Given the description of an element on the screen output the (x, y) to click on. 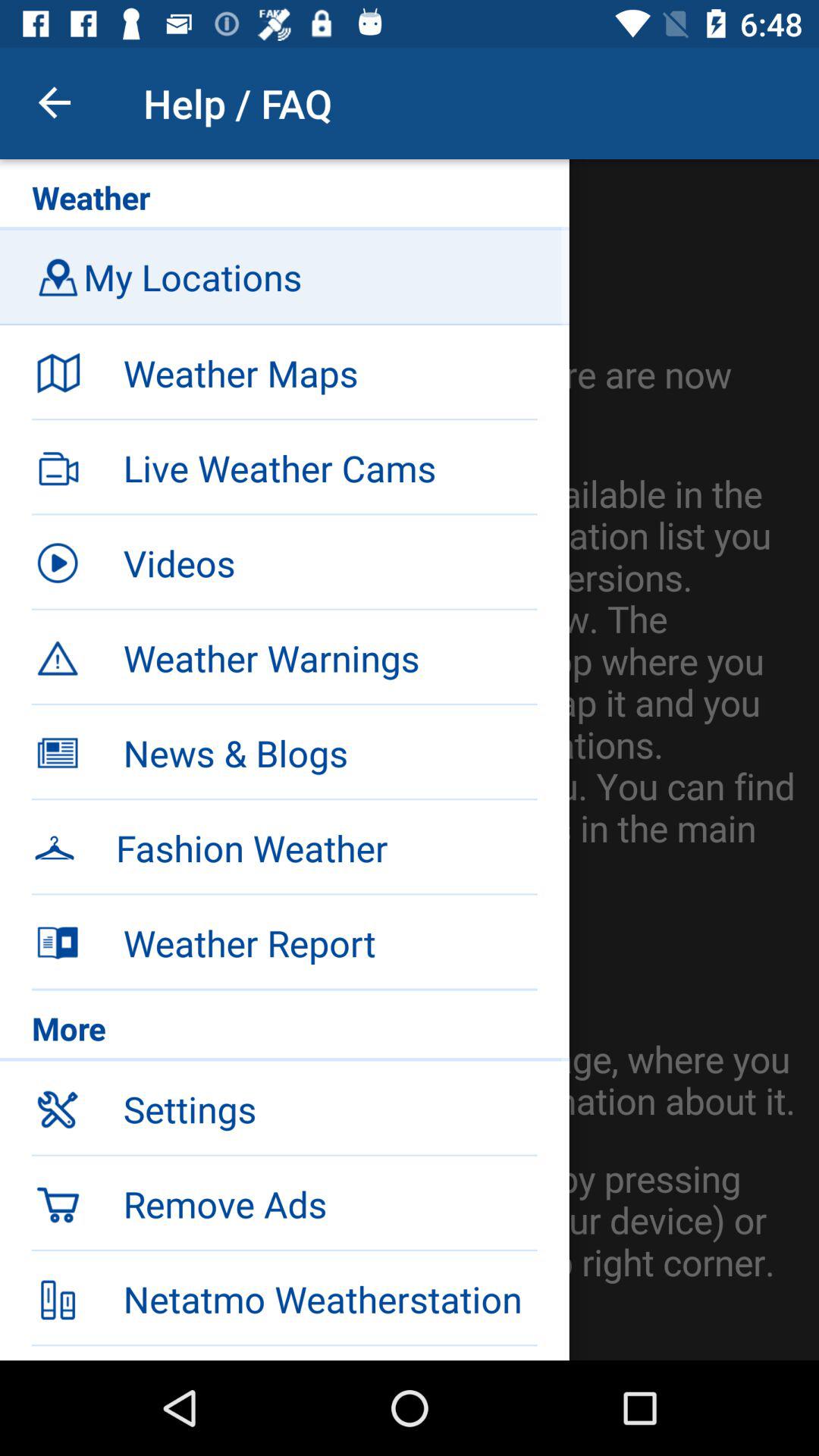
flip until the news & blogs item (330, 752)
